Given the description of an element on the screen output the (x, y) to click on. 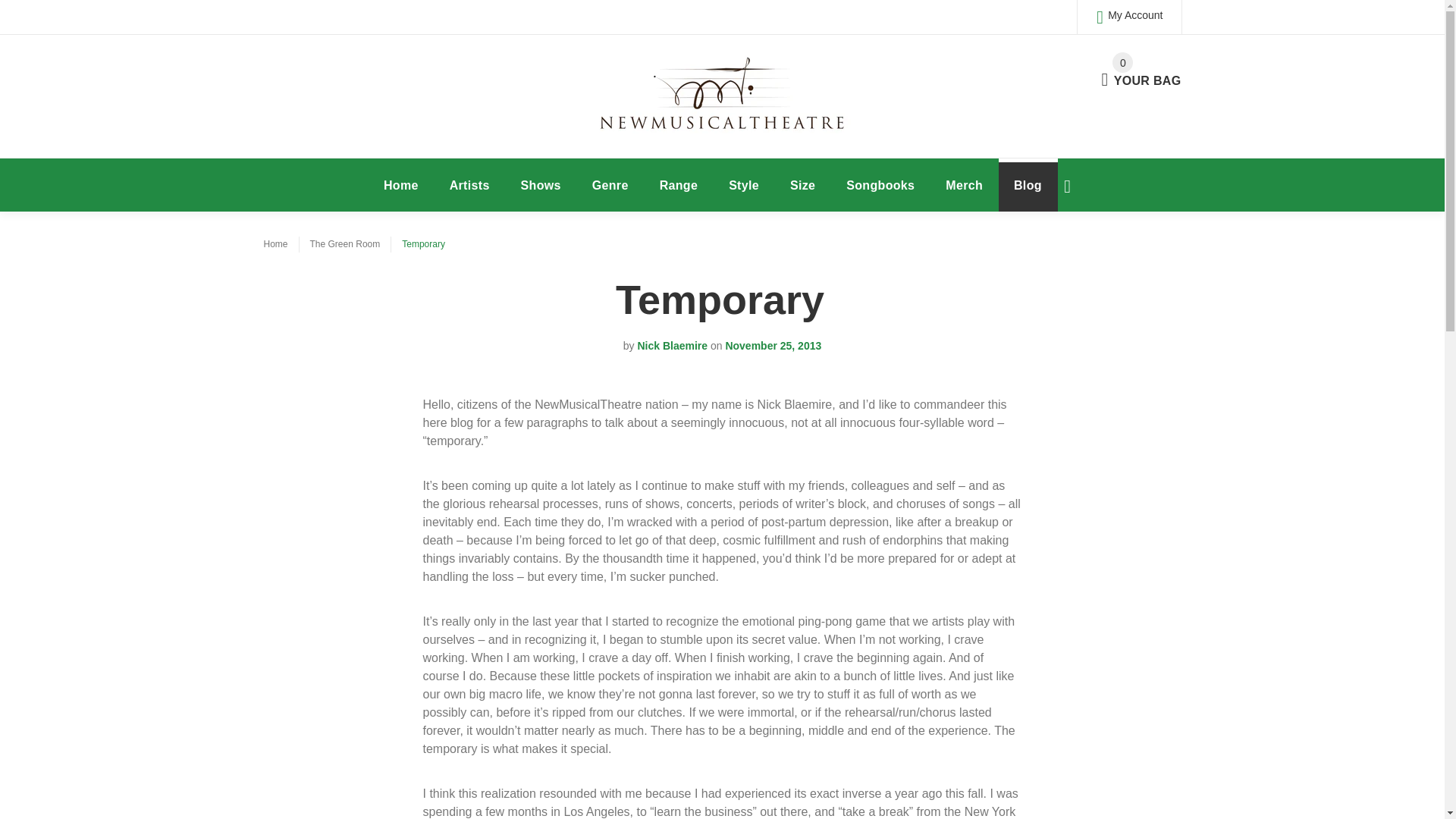
Home (275, 244)
Shows (540, 184)
Genre (610, 184)
Merch (964, 184)
My Account (1128, 17)
Songbooks (880, 184)
Blog (1141, 71)
Range (1028, 184)
Home (679, 184)
Size (400, 184)
Style (802, 184)
Artists (743, 184)
The Green Room (469, 184)
